Given the description of an element on the screen output the (x, y) to click on. 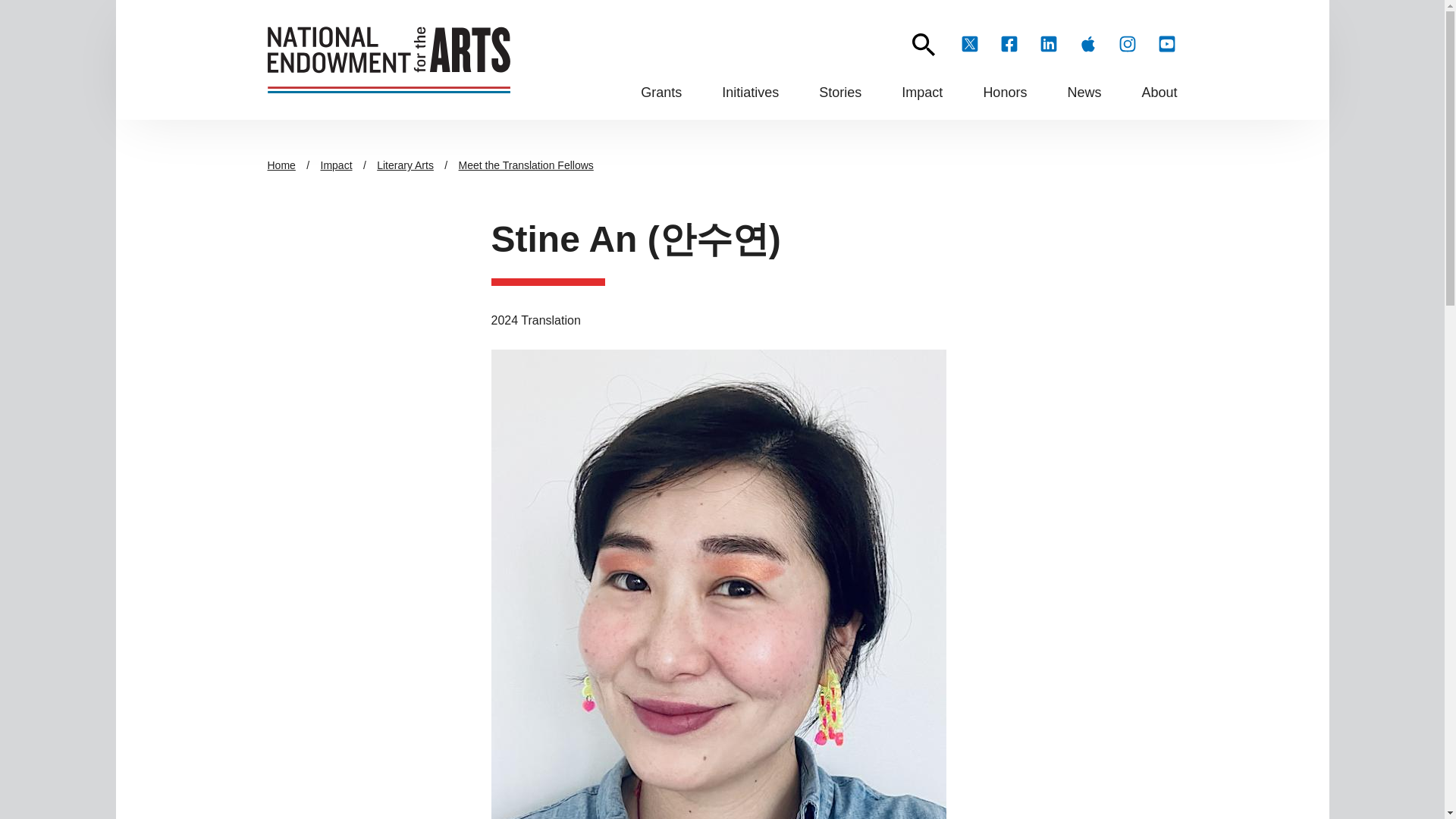
Follow us on youtube (1166, 43)
Grants (660, 92)
Apple store (1087, 43)
Skip to main content (722, 6)
Search (922, 44)
Initiatives (750, 92)
Follow us on X (968, 43)
Follow us on LinkedIn (1047, 43)
Follow us on facebook (1008, 43)
Home (387, 59)
Follow us on instagram (1126, 43)
